Given the description of an element on the screen output the (x, y) to click on. 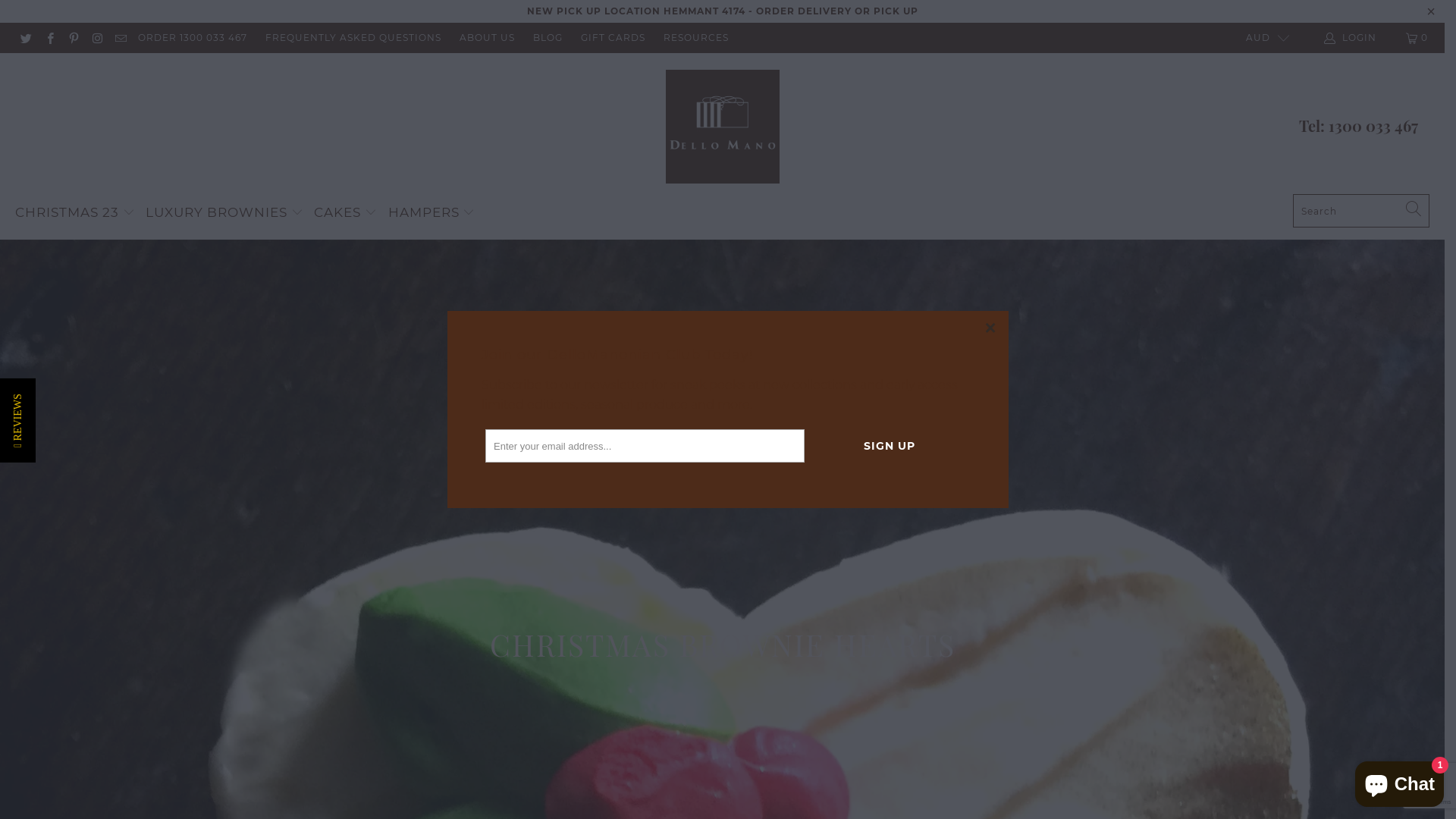
LUXURY BROWNIES Element type: text (224, 213)
Close Element type: hover (990, 328)
BLOG Element type: text (547, 37)
HAMPERS Element type: text (431, 213)
Dello Mano on Twitter Element type: hover (24, 37)
FREQUENTLY ASKED QUESTIONS Element type: text (353, 37)
CHRISTMAS 23 Element type: text (74, 213)
Dello Mano Element type: hover (722, 127)
LOGIN Element type: text (1351, 37)
Sign Up Element type: text (889, 445)
Dello Mano on Instagram Element type: hover (96, 37)
Email Dello Mano Element type: hover (119, 37)
CAKES Element type: text (344, 213)
Dello Mano on Facebook Element type: hover (48, 37)
Tel: 1300 033 467 Element type: text (1358, 125)
ABOUT US Element type: text (486, 37)
0 Element type: text (1417, 37)
Dello Mano on Pinterest Element type: hover (72, 37)
Shopify online store chat Element type: hover (1399, 780)
ORDER 1300 033 467 Element type: text (192, 37)
RESOURCES Element type: text (695, 37)
AUD Element type: text (1260, 37)
GIFT CARDS Element type: text (612, 37)
